Given the description of an element on the screen output the (x, y) to click on. 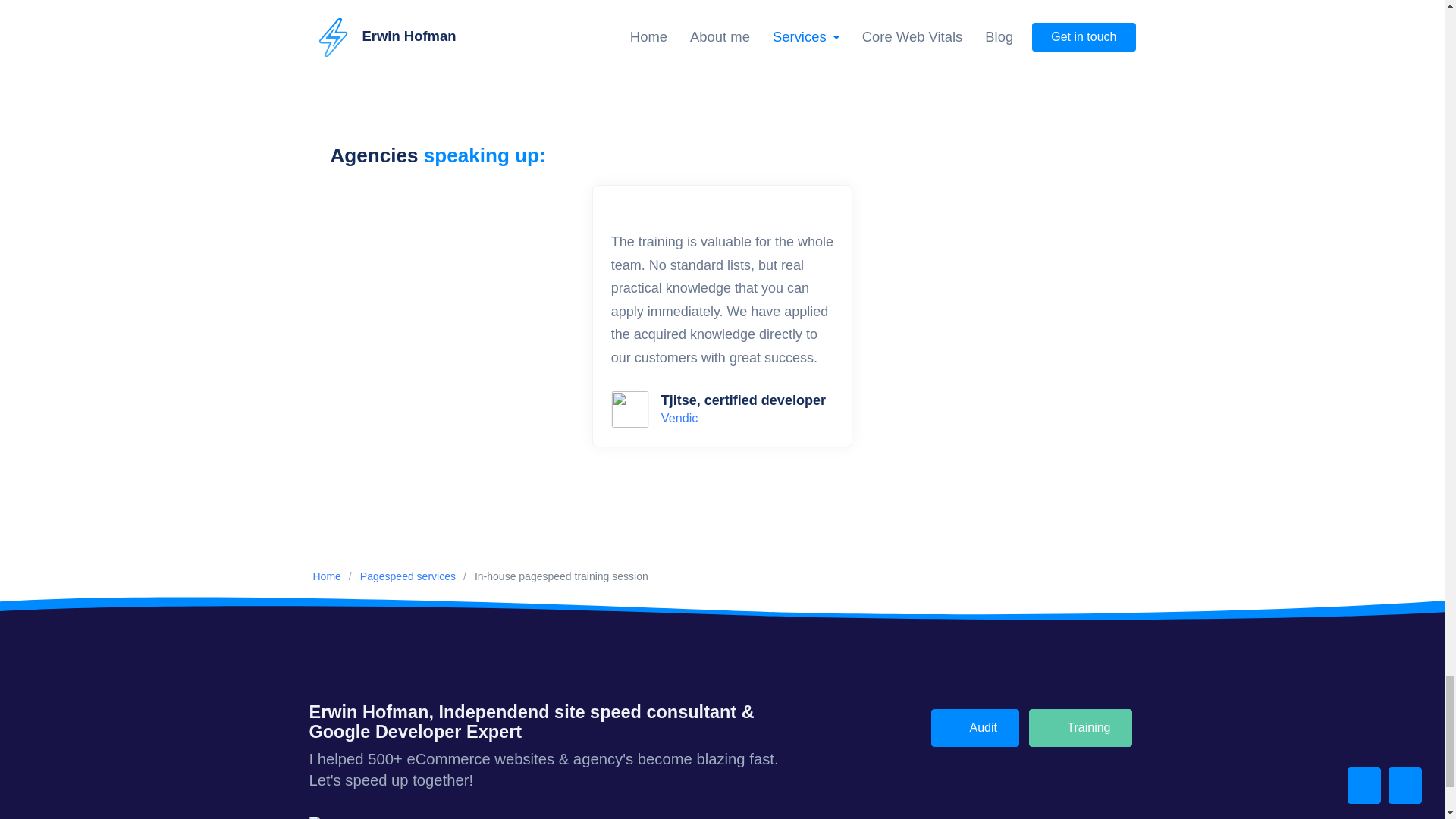
Vendic (679, 418)
